Given the description of an element on the screen output the (x, y) to click on. 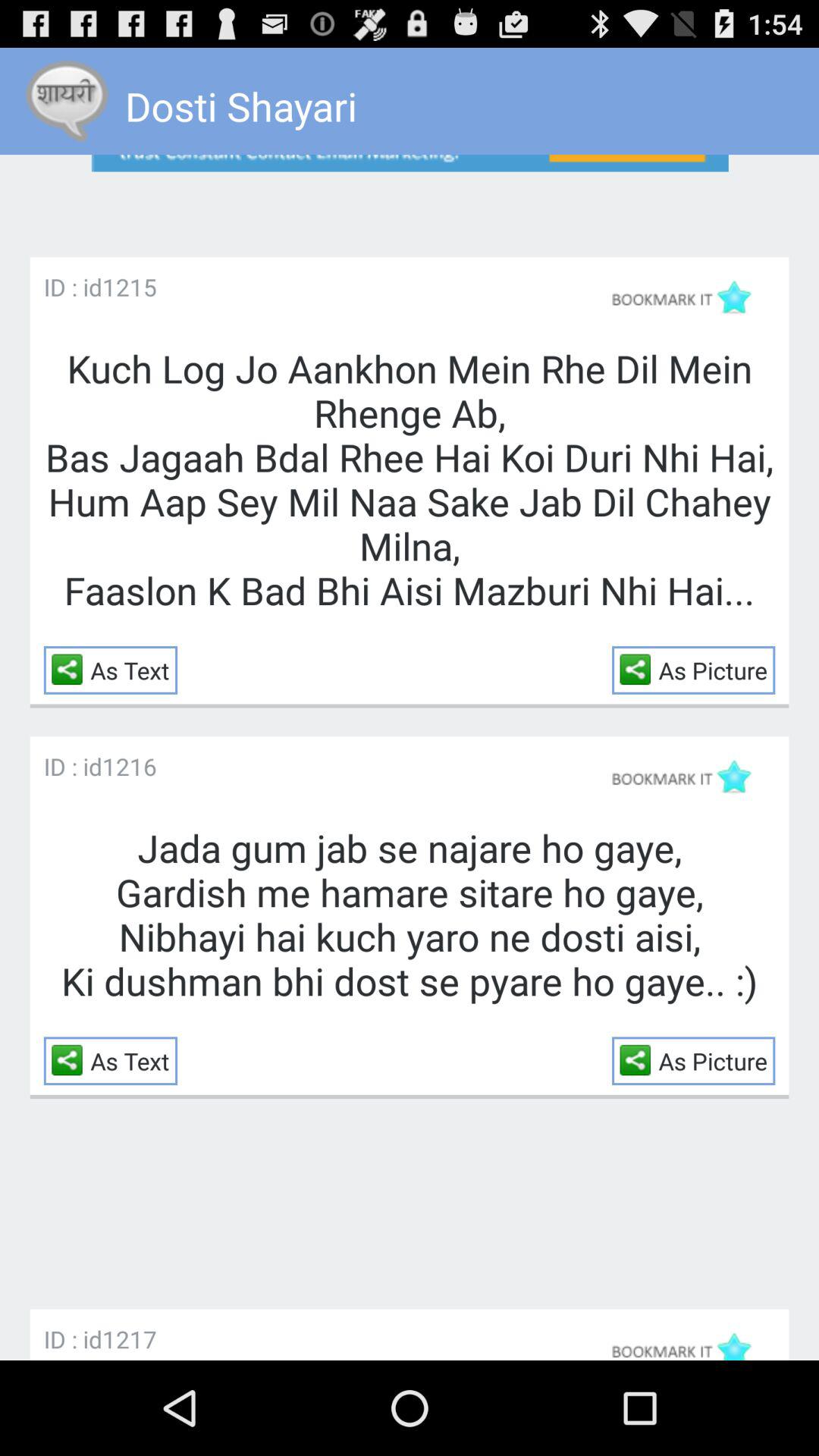
tap app above the id : id app (70, 669)
